Given the description of an element on the screen output the (x, y) to click on. 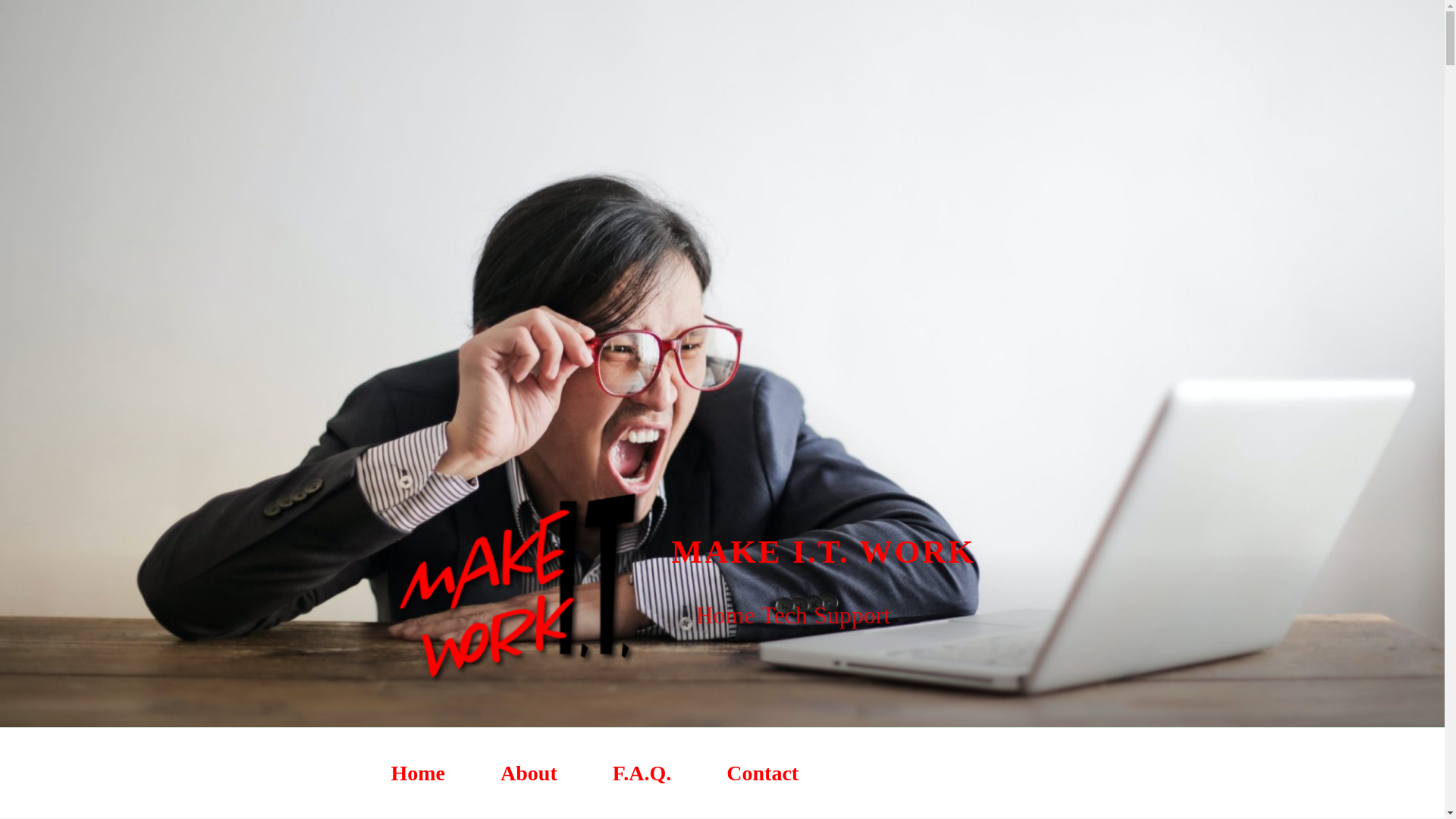
Home Element type: text (417, 772)
Contact Element type: text (762, 772)
MAKE I.T. WORK Element type: text (823, 551)
Scroll down to content Element type: text (1072, 780)
F.A.Q. Element type: text (642, 772)
About Element type: text (528, 772)
